Given the description of an element on the screen output the (x, y) to click on. 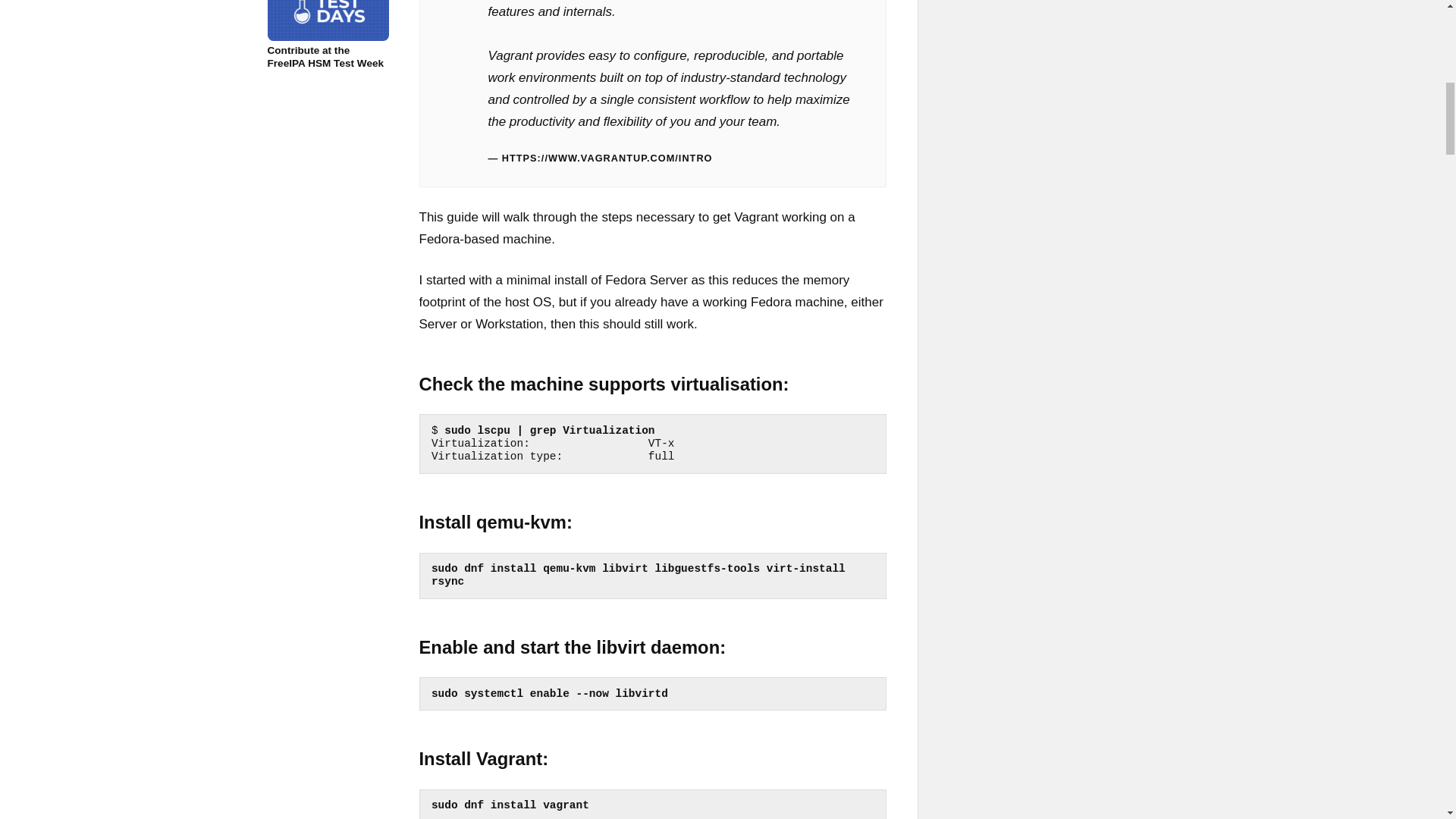
Contribute at the FreeIPA HSM Test Week (327, 35)
